Given the description of an element on the screen output the (x, y) to click on. 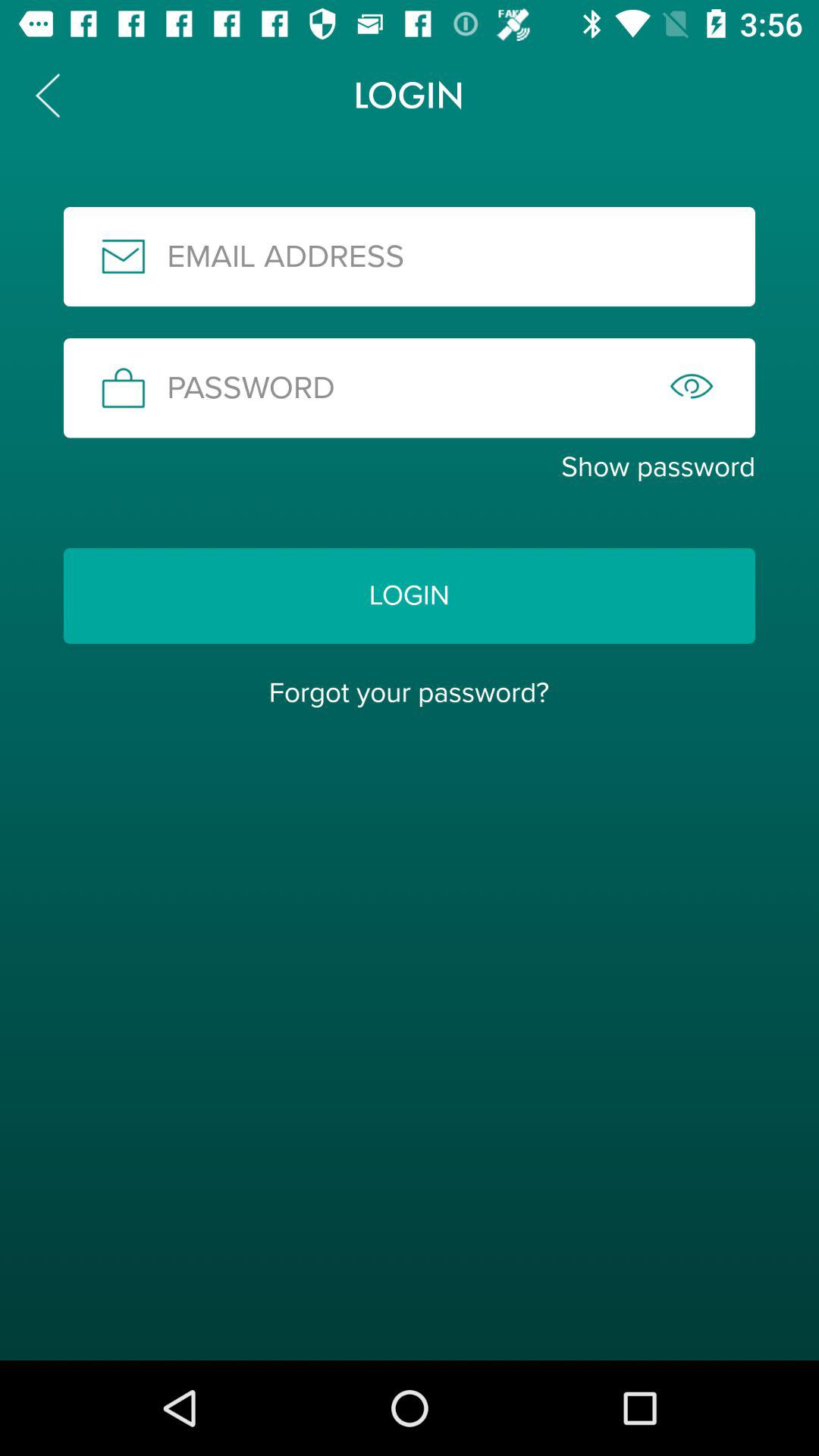
launch item below login (409, 692)
